Given the description of an element on the screen output the (x, y) to click on. 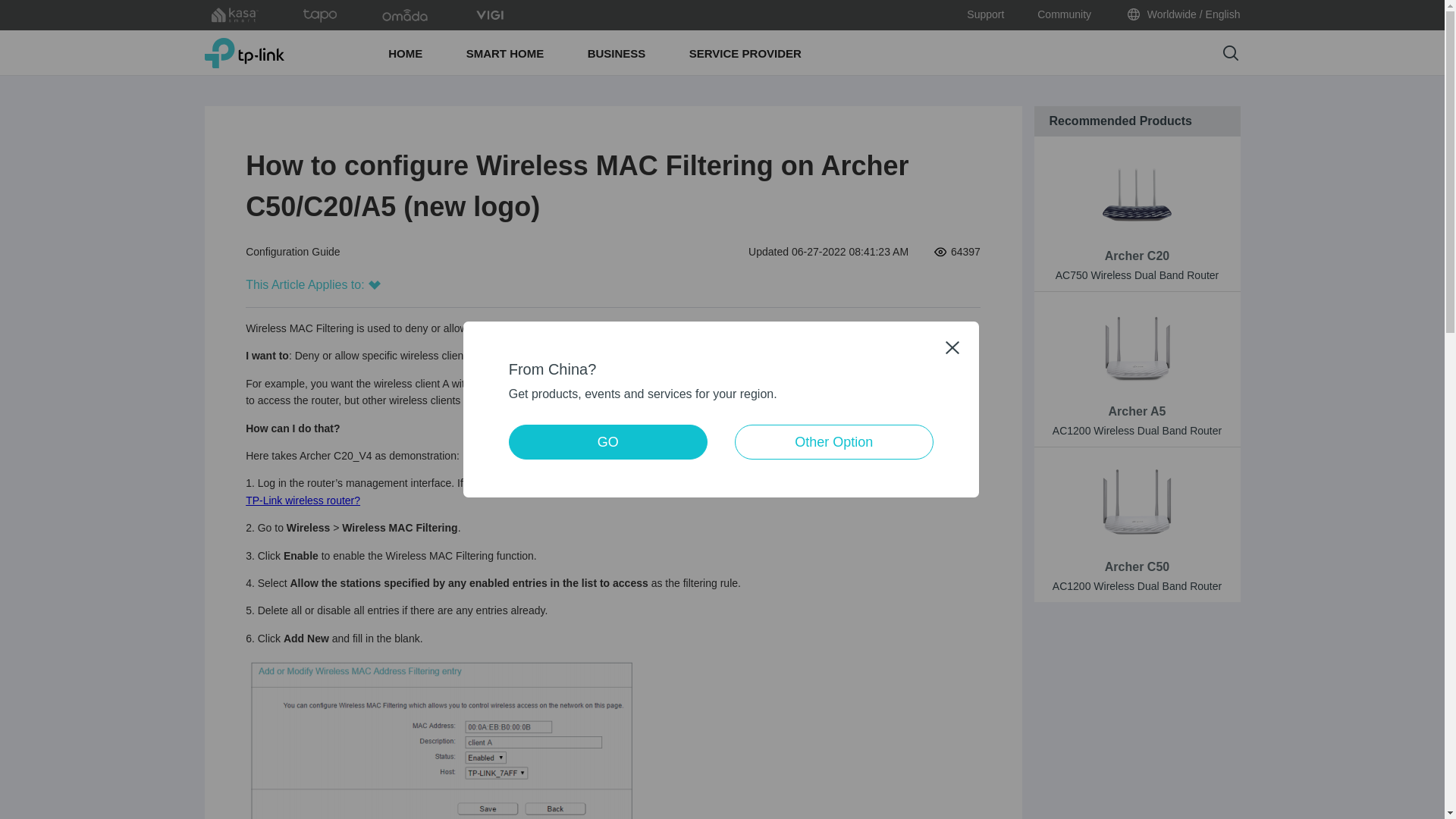
omada (404, 15)
TP-Link, Reliably Smart (244, 52)
kasa (234, 15)
Community (1063, 15)
tapo (319, 15)
Support (985, 15)
VIGI (489, 15)
Search (1230, 53)
